Given the description of an element on the screen output the (x, y) to click on. 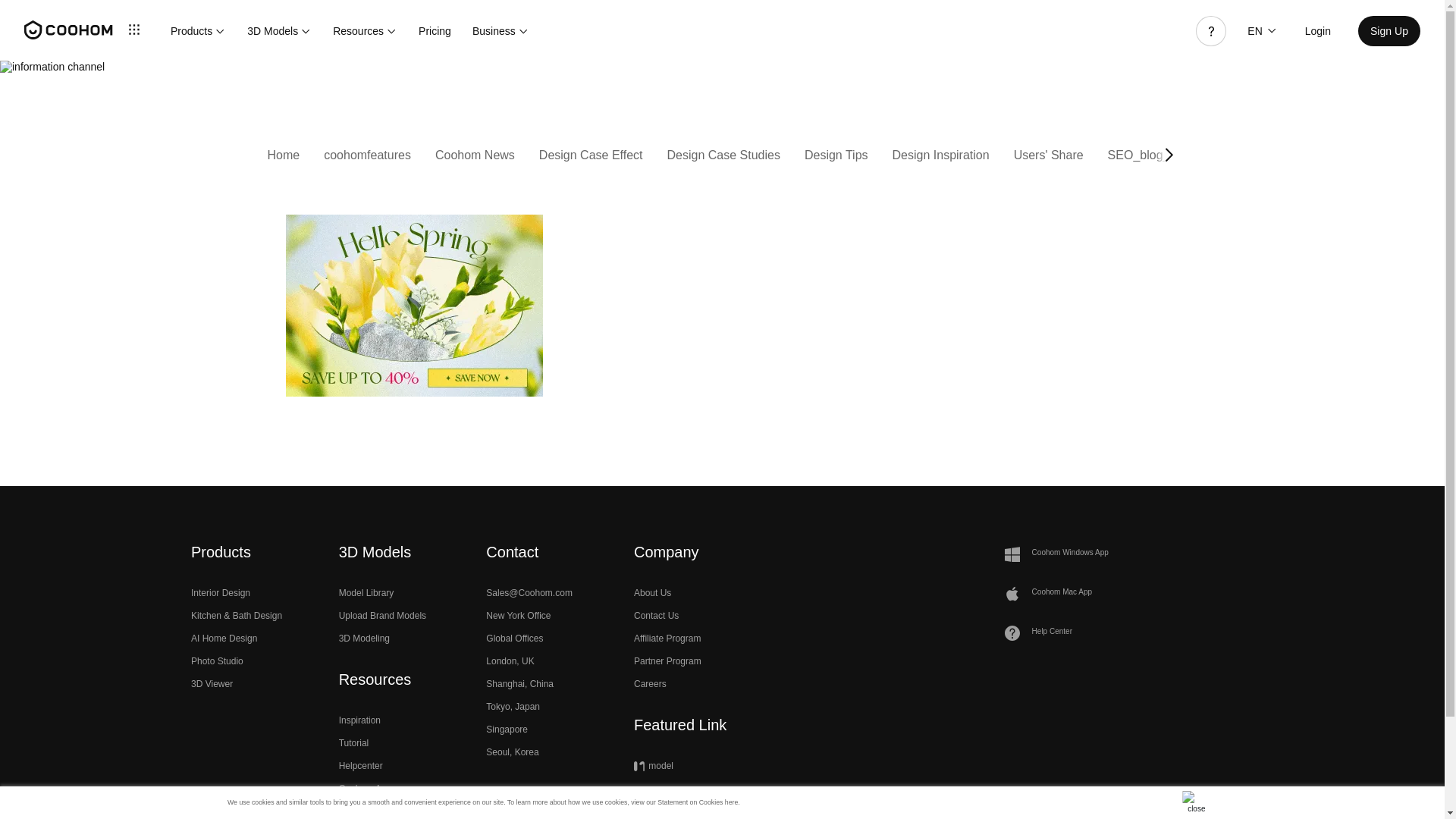
Design Inspiration (941, 155)
Login (1317, 30)
EN (1260, 30)
SignUp (1389, 30)
Products (197, 30)
3D Models (279, 30)
Design Tips (836, 155)
coohomfeatures (366, 155)
Home (282, 155)
Design Case Studies (723, 155)
